Given the description of an element on the screen output the (x, y) to click on. 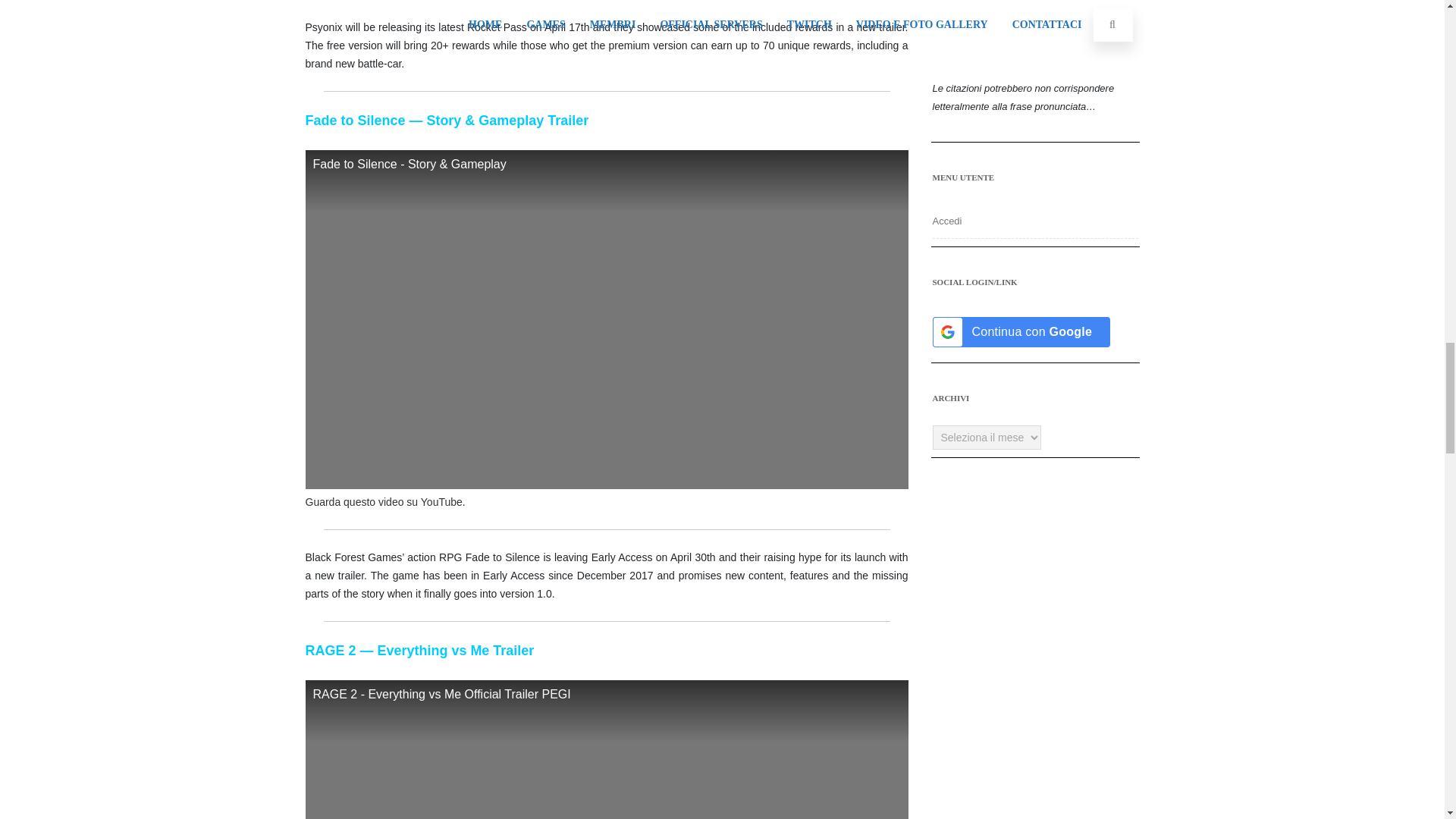
RAGE 2 - Everything vs Me Official Trailer PEGI (605, 749)
